Given the description of an element on the screen output the (x, y) to click on. 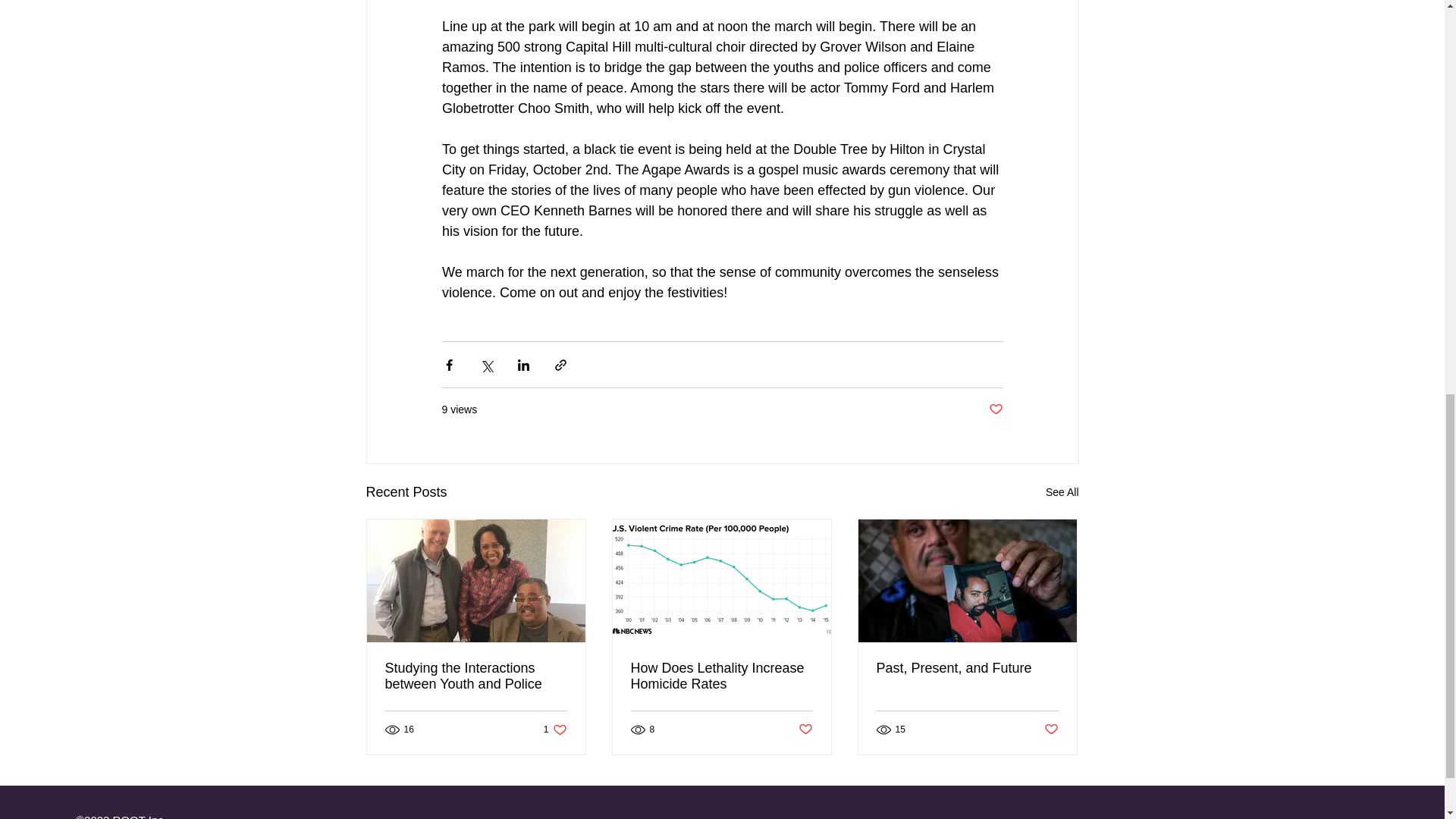
Past, Present, and Future (967, 668)
See All (1061, 492)
How Does Lethality Increase Homicide Rates (721, 676)
Studying the Interactions between Youth and Police (476, 676)
Post not marked as liked (995, 409)
Post not marked as liked (804, 729)
Post not marked as liked (1050, 729)
